Given the description of an element on the screen output the (x, y) to click on. 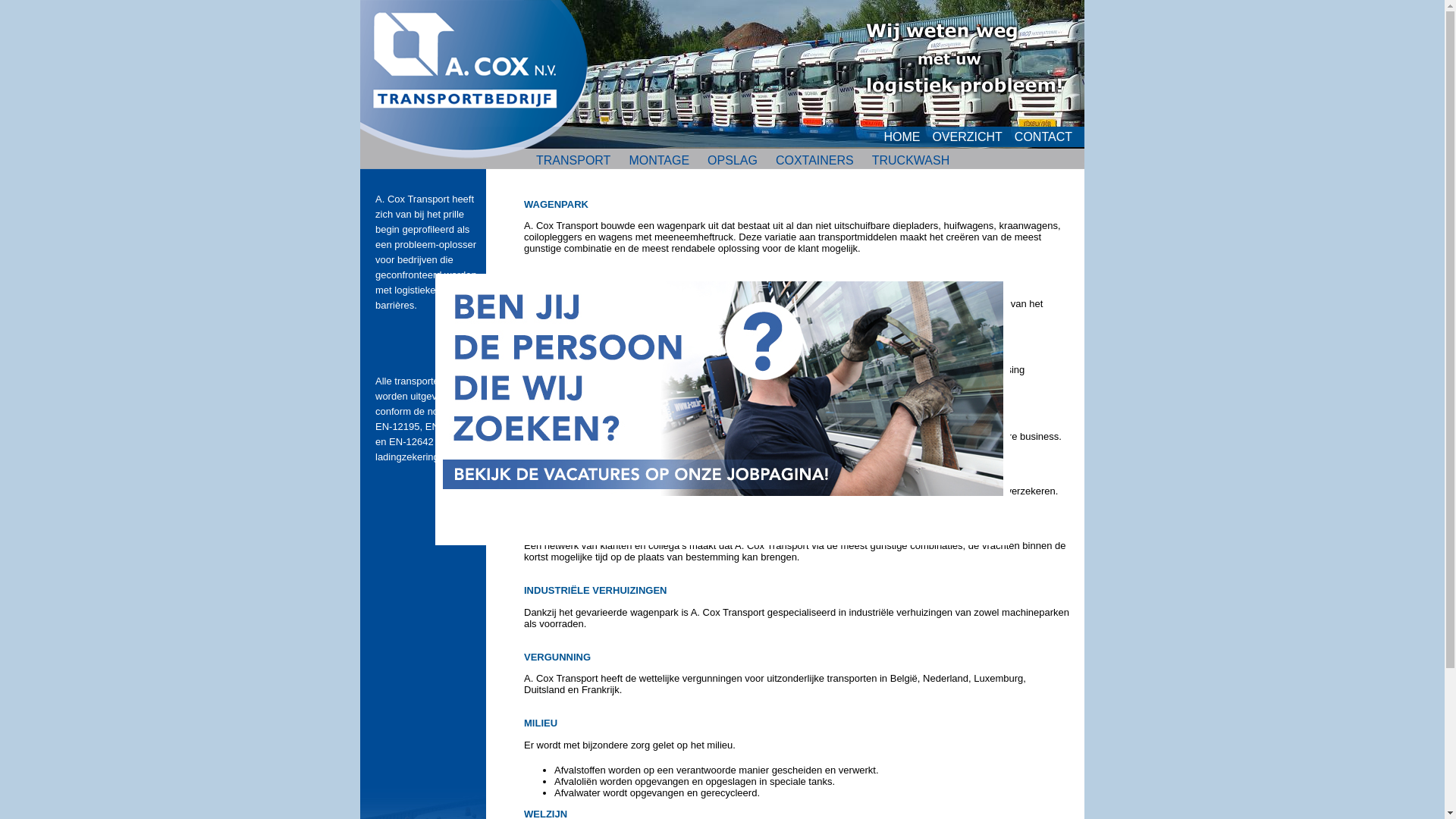
MONTAGE Element type: text (658, 160)
TRANSPORT Element type: text (573, 160)
close Element type: text (1000, 535)
TRUCKWASH Element type: text (910, 160)
HOME Element type: text (907, 136)
CONTACT Element type: text (1049, 136)
OPSLAG Element type: text (732, 160)
TRAILER VERHUUR/VERKOOP Element type: text (625, 183)
FOTOGALERIJ Element type: text (891, 183)
OVERZICHT Element type: text (972, 136)
NIEUWS Element type: text (806, 183)
JOBS Element type: text (748, 183)
COXTAINERS Element type: text (814, 160)
